Given the description of an element on the screen output the (x, y) to click on. 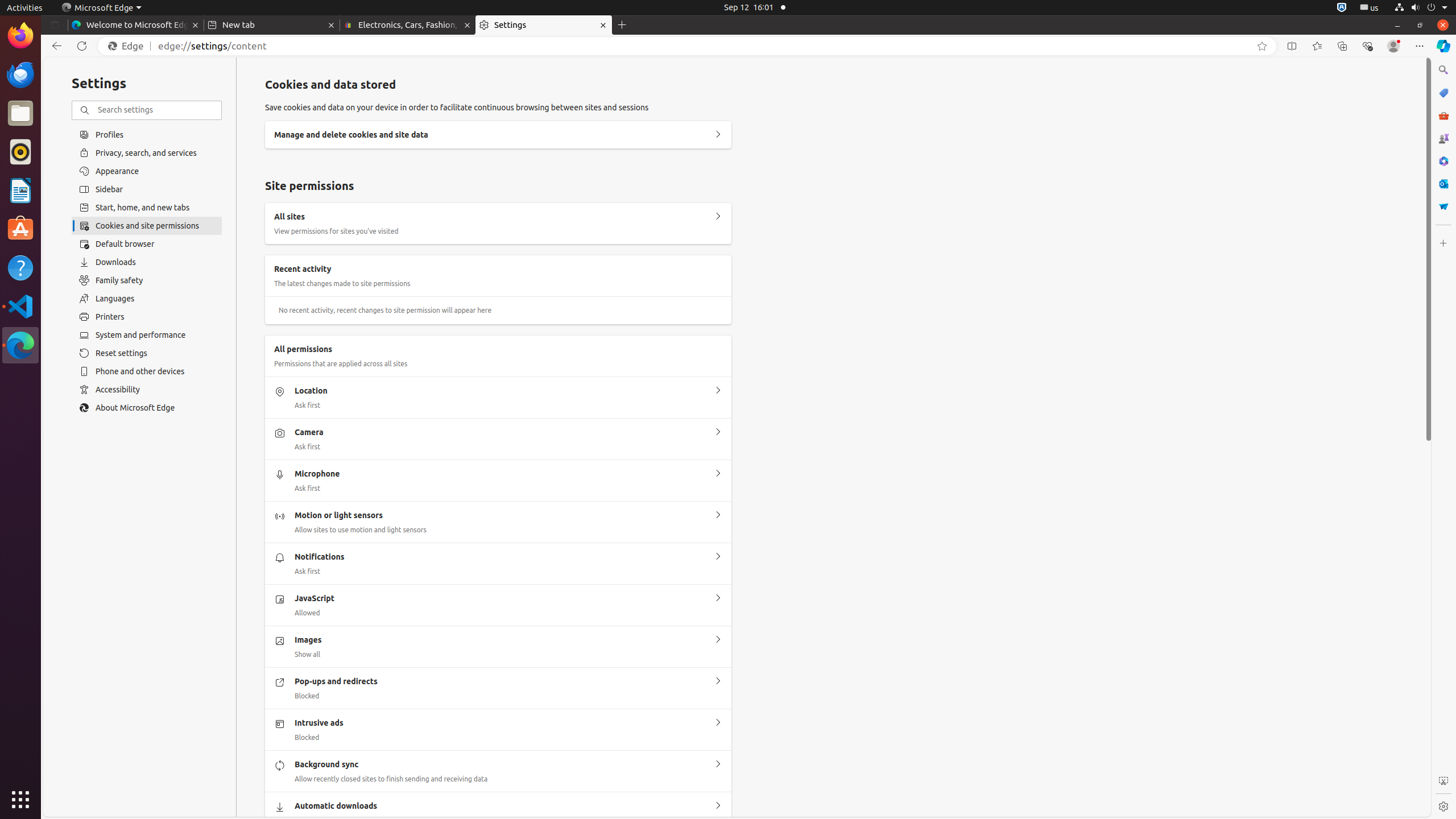
Thunderbird Mail Element type: push-button (20, 74)
Electronics, Cars, Fashion, Collectibles & More | eBay Element type: page-tab (407, 25)
Close tab Element type: push-button (195, 25)
Favorites Element type: push-button (1316, 45)
:1.21/StatusNotifierItem Element type: menu (1369, 7)
